Given the description of an element on the screen output the (x, y) to click on. 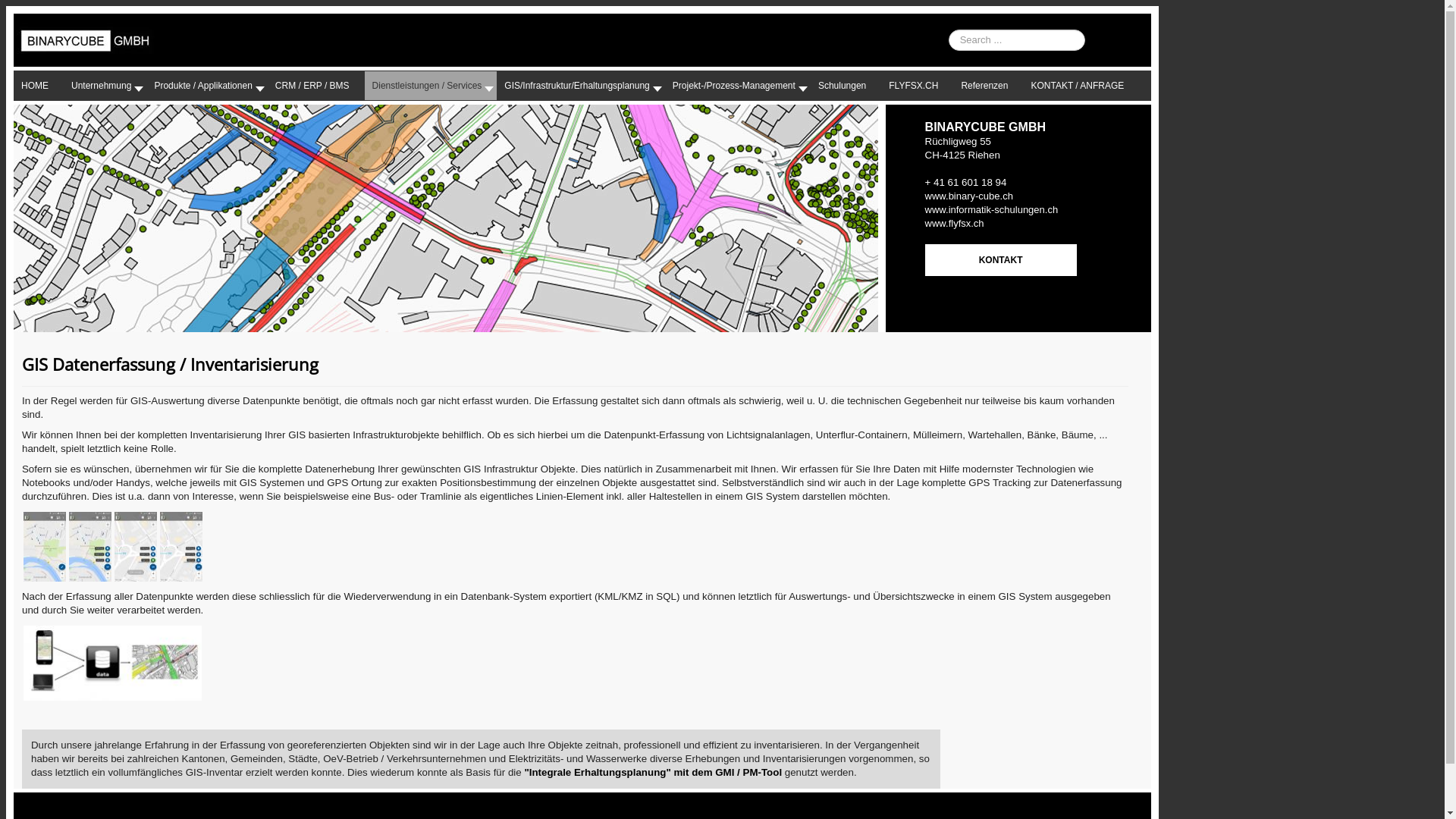
Produkte / Applikationen Element type: text (206, 85)
Dienstleistungen / Services Element type: text (430, 85)
www.flyfsx.ch Element type: text (954, 223)
KONTAKT Element type: text (1000, 260)
Projekt-/Prozess-Management Element type: text (737, 85)
"Integrale Erhaltungsplanung" mit dem GMI / PM-Tool Element type: text (652, 772)
Referenzen Element type: text (987, 85)
CRM / ERP / BMS Element type: text (315, 85)
www.informatik-schulungen.ch Element type: text (991, 209)
www.binary-cube.ch Element type: text (969, 195)
HOME Element type: text (38, 85)
Schulungen Element type: text (845, 85)
FLYFSX.CH Element type: text (917, 85)
GIS/Infrastruktur/Erhaltungsplanung Element type: text (580, 85)
Unternehmung Element type: text (104, 85)
KONTAKT / ANFRAGE Element type: text (1080, 85)
